Given the description of an element on the screen output the (x, y) to click on. 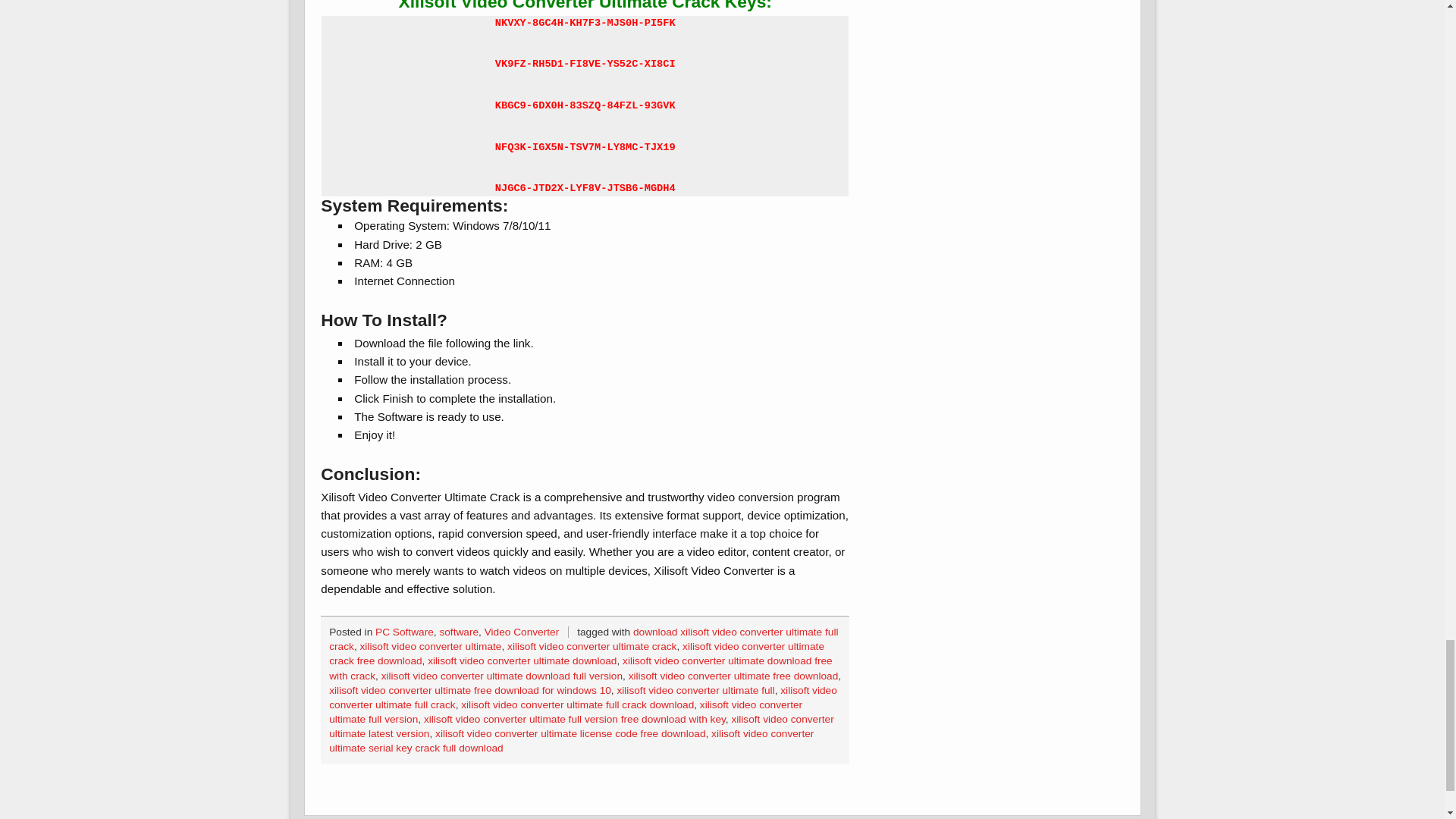
xilisoft video converter ultimate full crack download (577, 704)
xilisoft video converter ultimate license code free download (569, 733)
xilisoft video converter ultimate download (521, 660)
xilisoft video converter ultimate crack (591, 645)
xilisoft video converter ultimate free download (733, 675)
xilisoft video converter ultimate download free with crack (580, 667)
xilisoft video converter ultimate download full version (502, 675)
software (459, 632)
xilisoft video converter ultimate full (694, 690)
PC Software (404, 632)
xilisoft video converter ultimate (430, 645)
Video Converter (521, 632)
xilisoft video converter ultimate full crack (583, 697)
xilisoft video converter ultimate full version (565, 711)
